Given the description of an element on the screen output the (x, y) to click on. 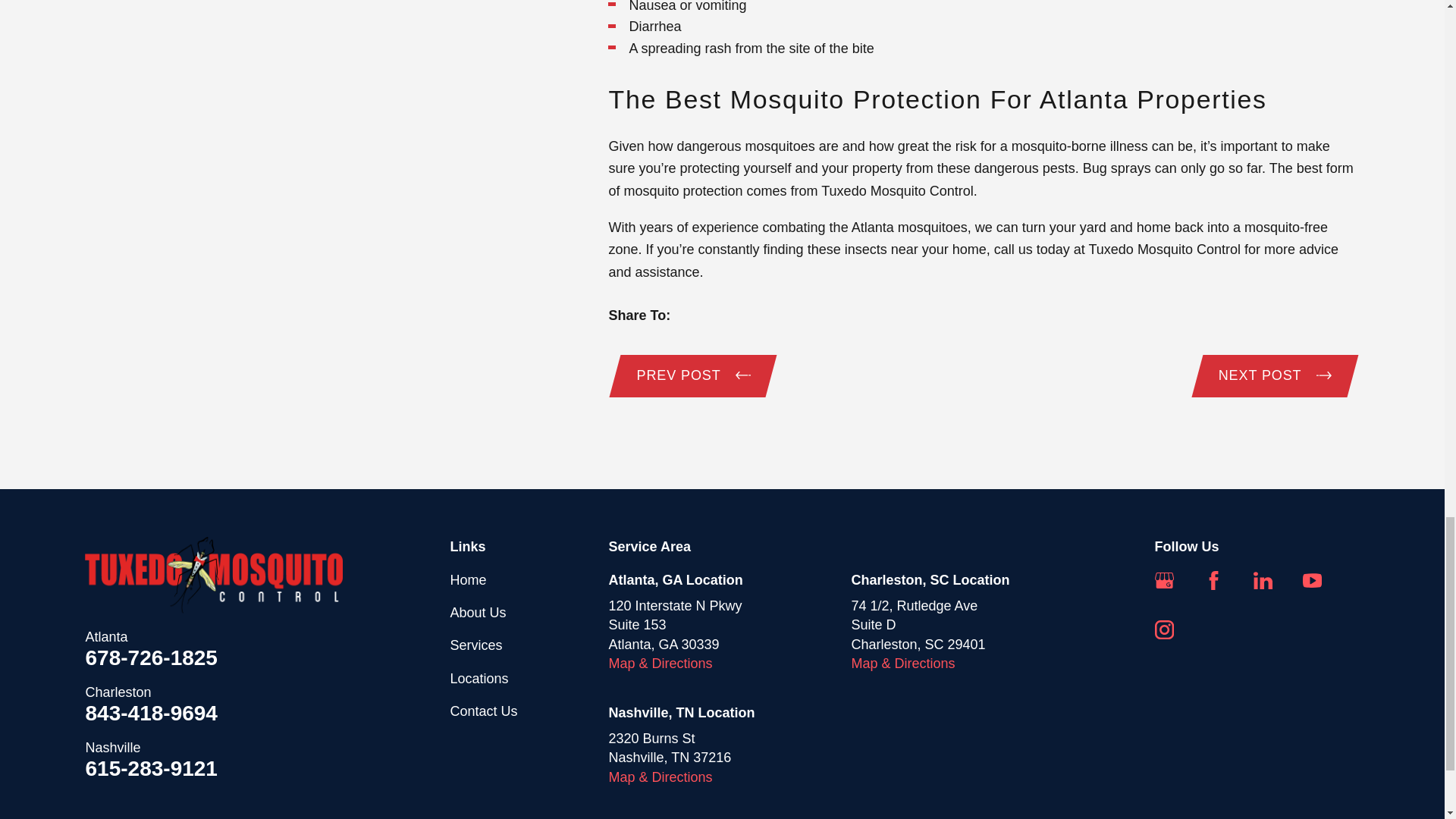
YouTube (1312, 579)
Facebook (1213, 579)
Google Business Profile (1163, 579)
LinkedIn (1262, 579)
Home (213, 575)
